Given the description of an element on the screen output the (x, y) to click on. 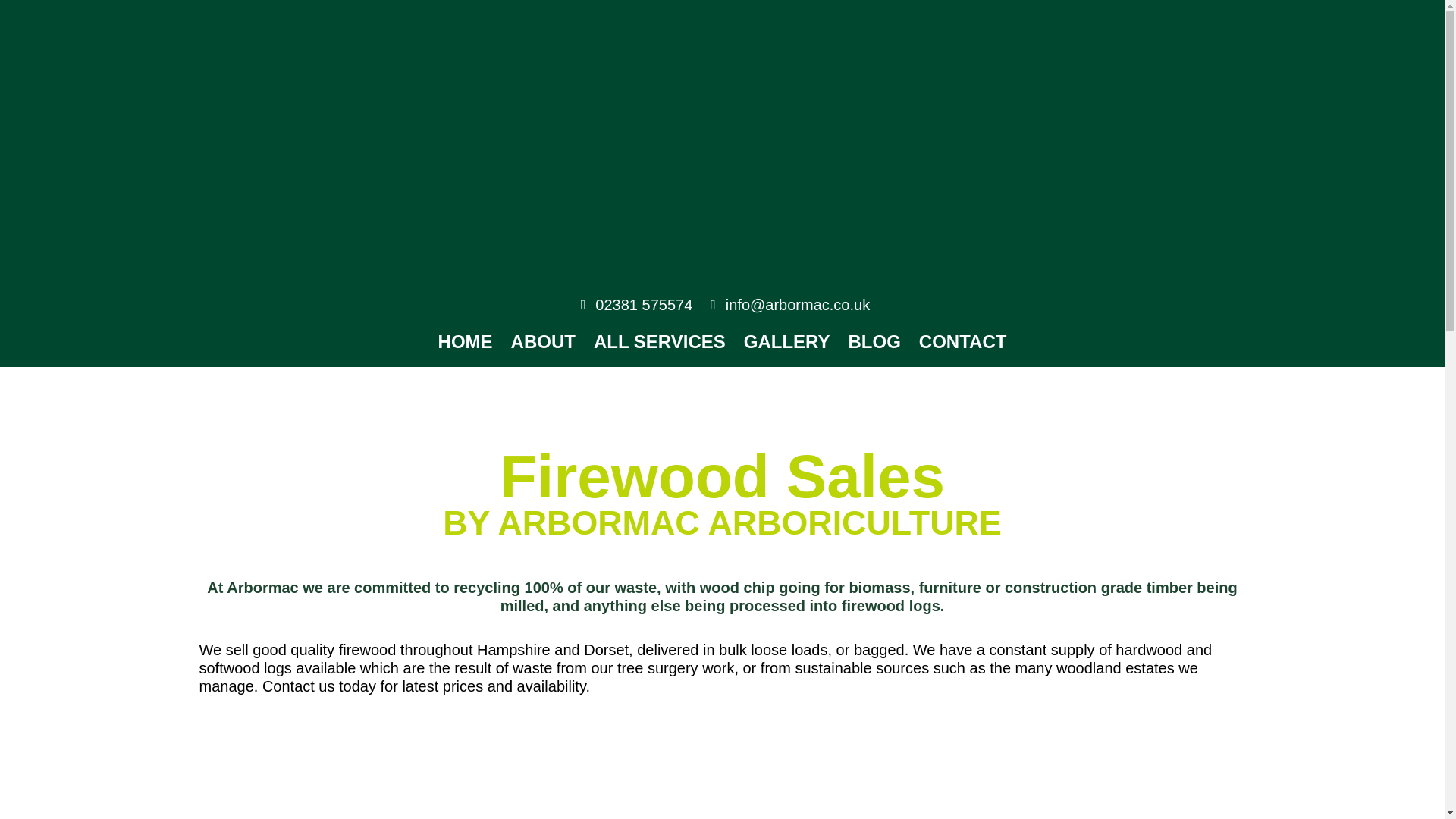
BLOG (875, 341)
HOME (465, 341)
CONTACT (963, 341)
GALLERY (787, 341)
ALL SERVICES (660, 341)
02381 575574 (634, 304)
ABOUT (543, 341)
